Given the description of an element on the screen output the (x, y) to click on. 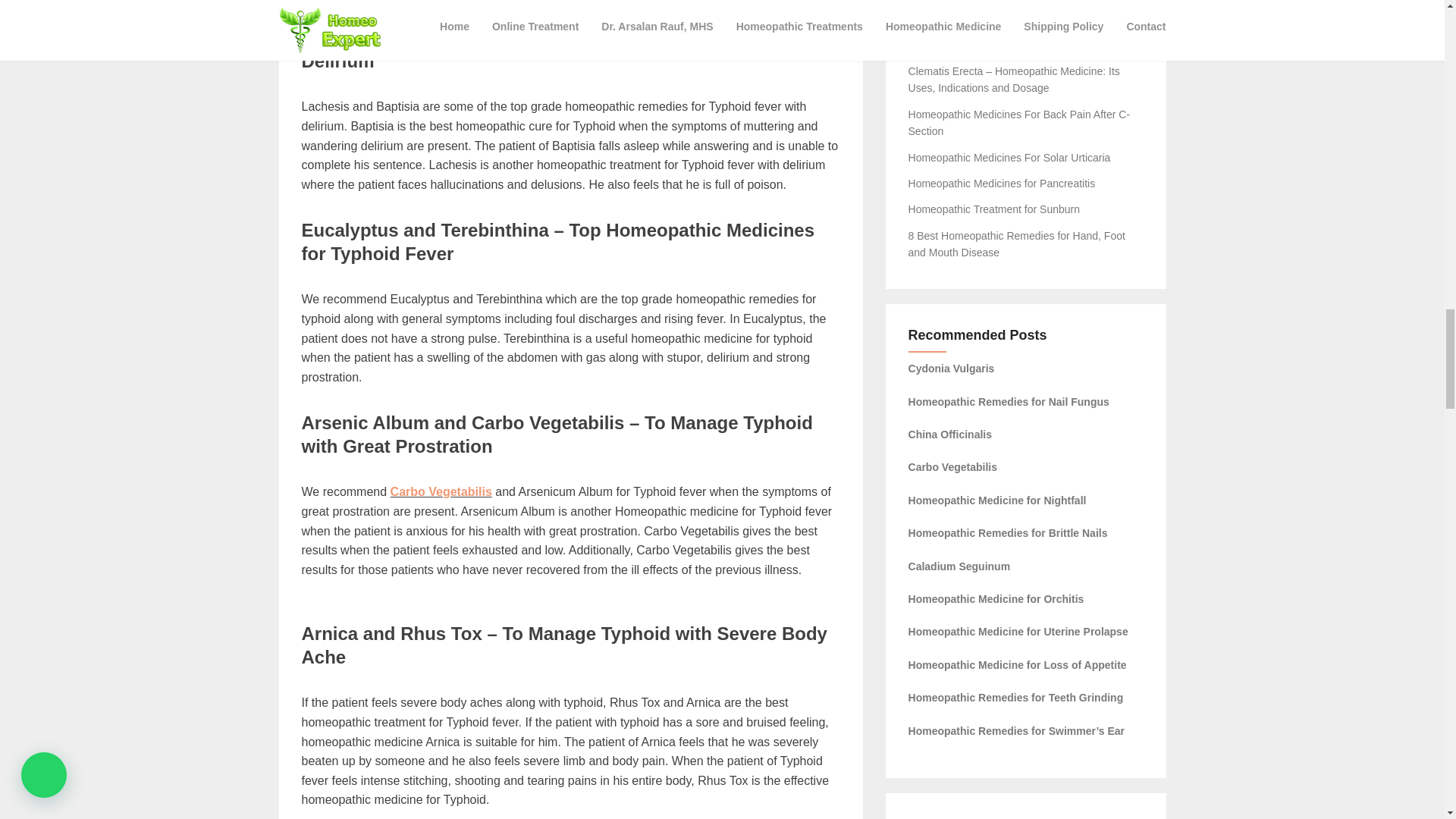
Carbo Vegetabilis (441, 491)
